Given the description of an element on the screen output the (x, y) to click on. 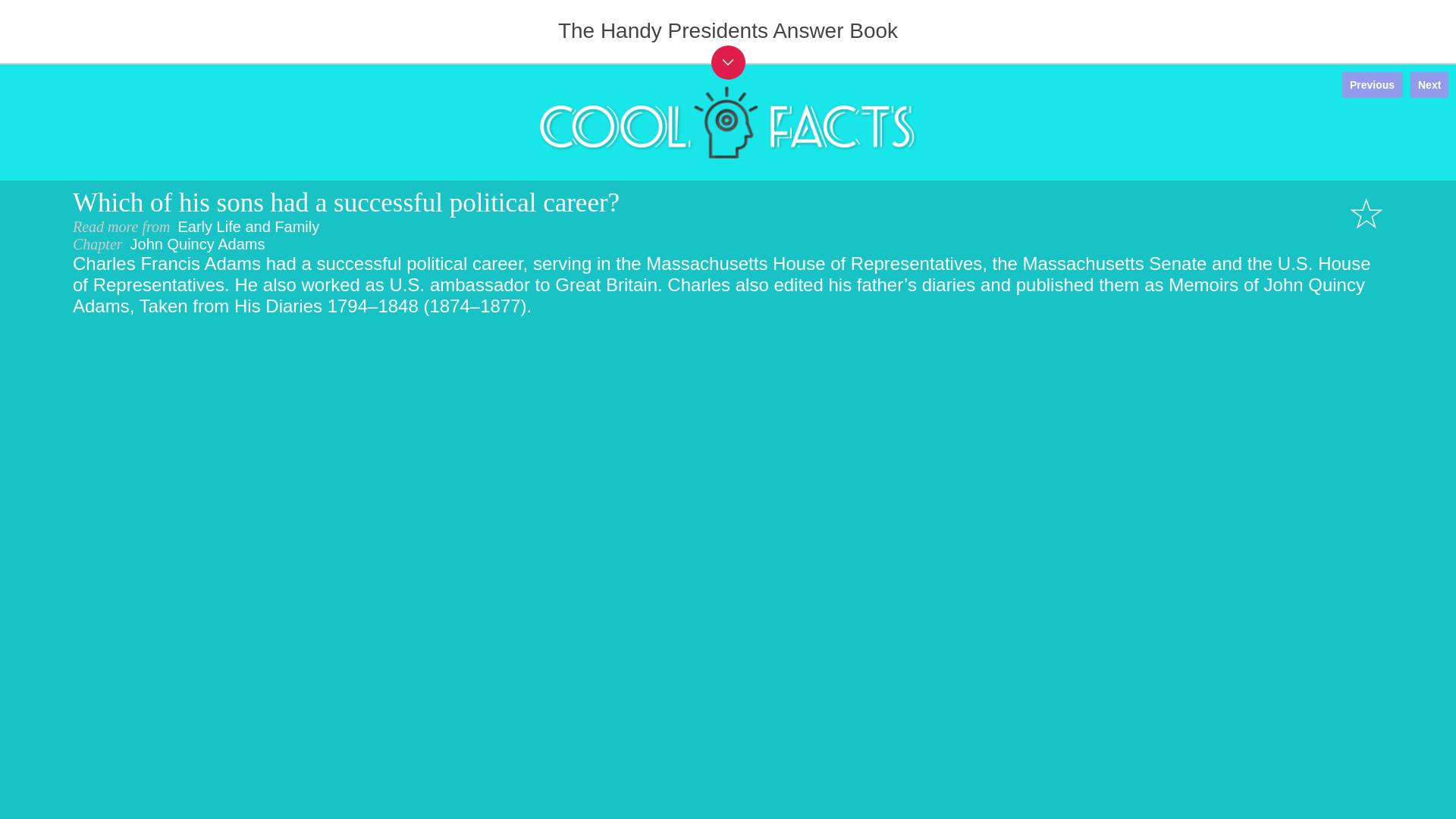
Previous (1372, 84)
Next (1429, 84)
